Given the description of an element on the screen output the (x, y) to click on. 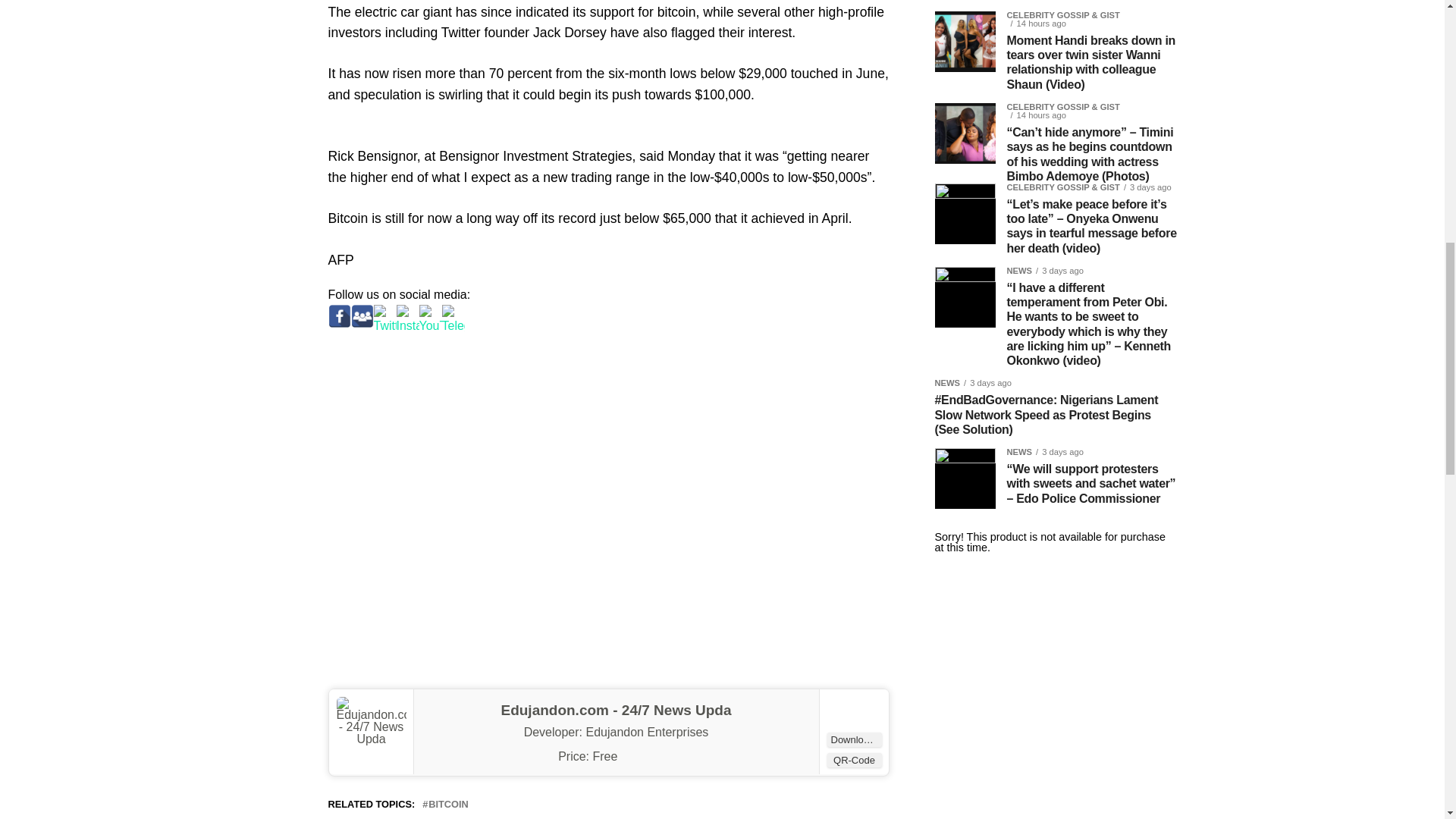
Instagram (407, 315)
Telegram (452, 315)
Facebook (338, 315)
Facebook Group (361, 315)
Twitter (384, 315)
YouTube (430, 315)
